Given the description of an element on the screen output the (x, y) to click on. 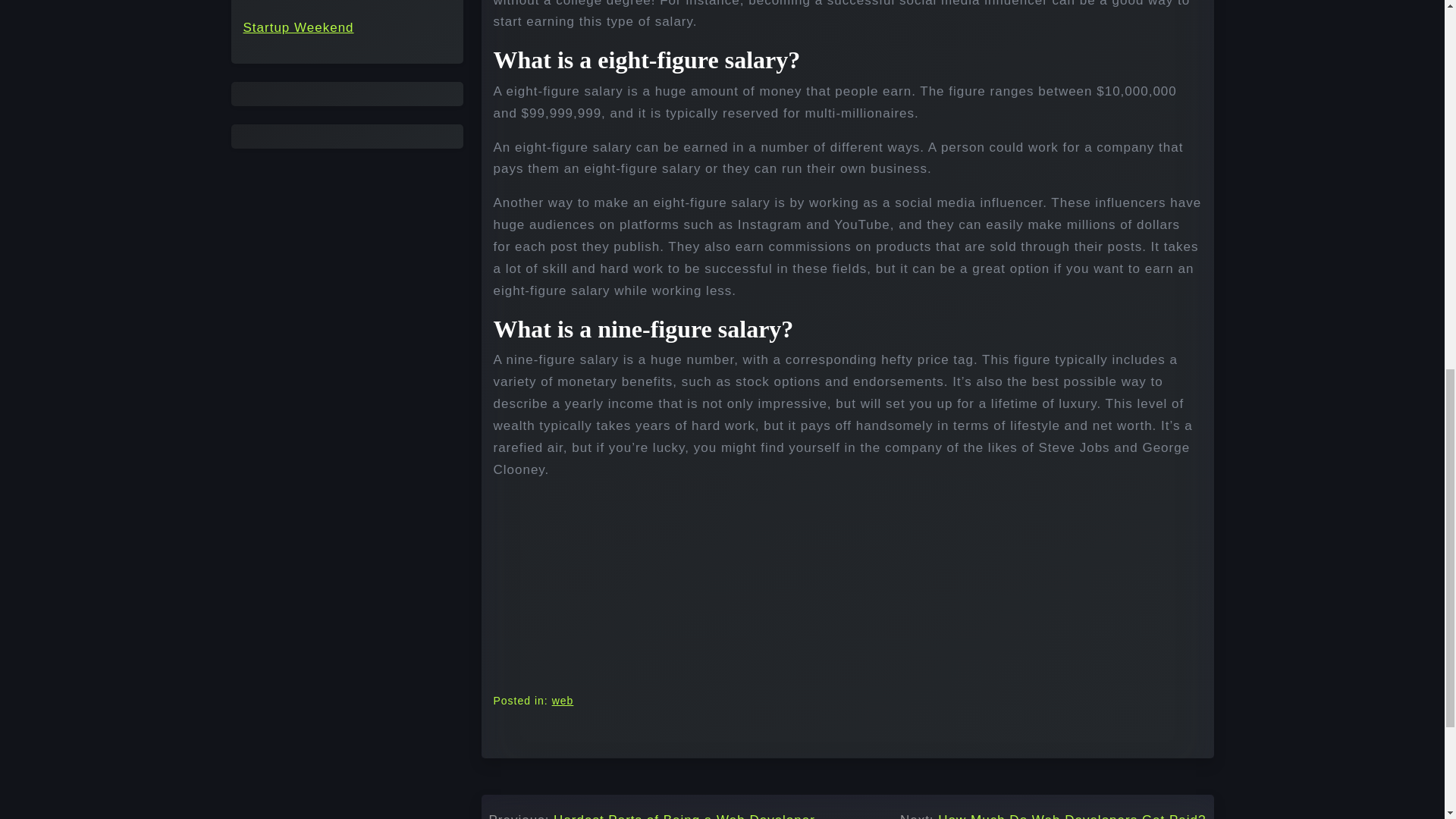
web (562, 701)
Startup Weekend (298, 28)
Next: How Much Do Web Developers Get Paid? (1053, 814)
What is Startup (292, 2)
Previous: Hardest Parts of Being a Web Developer (650, 814)
